Given the description of an element on the screen output the (x, y) to click on. 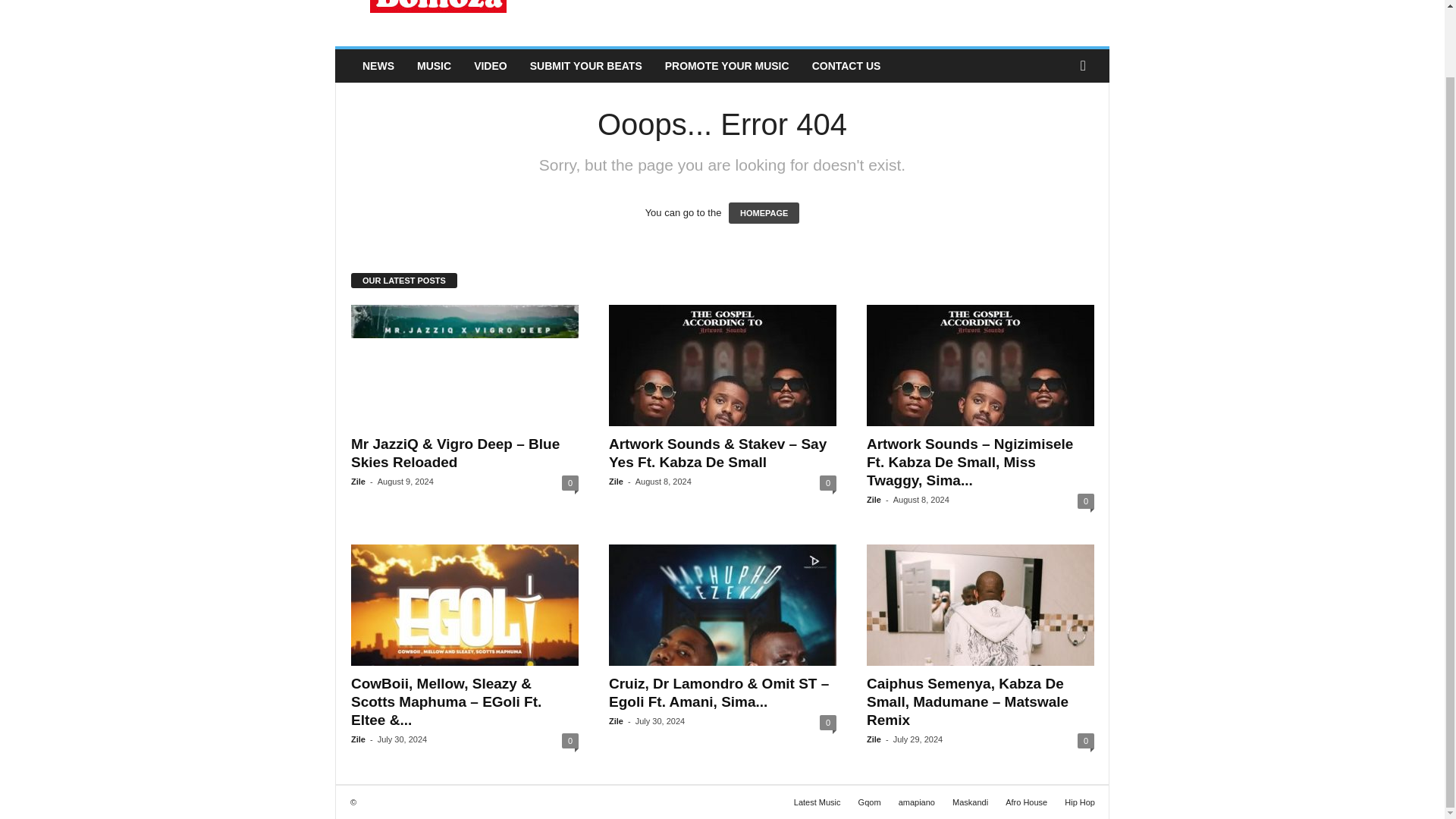
Zile (615, 481)
Zile (873, 499)
0 (570, 740)
SUBMIT YOUR BEATS (585, 65)
PROMOTE YOUR MUSIC (726, 65)
Zile (357, 481)
0 (827, 482)
HOMEPAGE (764, 212)
0 (1085, 500)
VIDEO (490, 65)
